Given the description of an element on the screen output the (x, y) to click on. 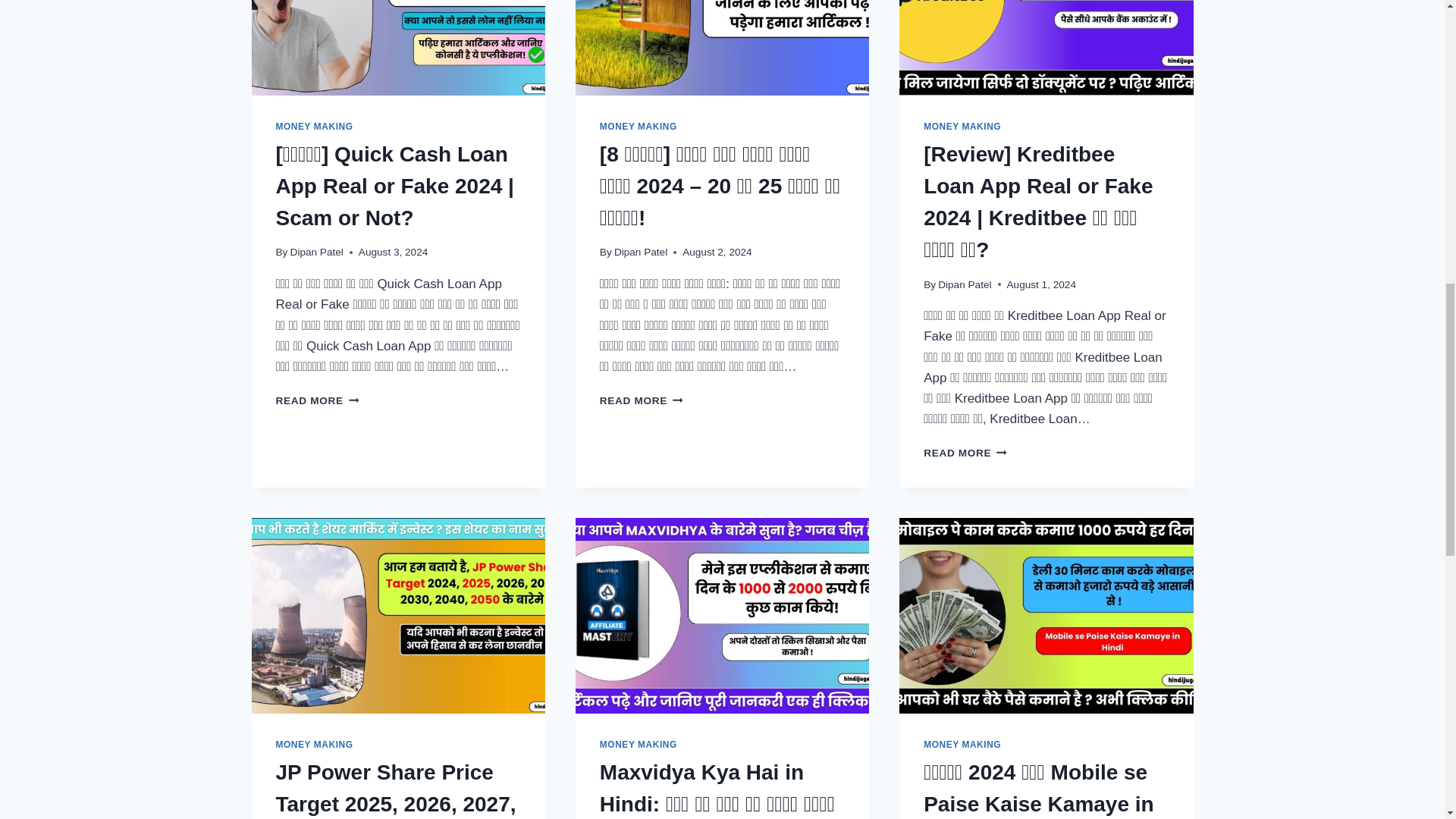
MONEY MAKING (314, 744)
MONEY MAKING (638, 126)
MONEY MAKING (962, 126)
MONEY MAKING (314, 126)
Dipan Patel (640, 251)
Dipan Patel (316, 251)
Dipan Patel (964, 284)
